Given the description of an element on the screen output the (x, y) to click on. 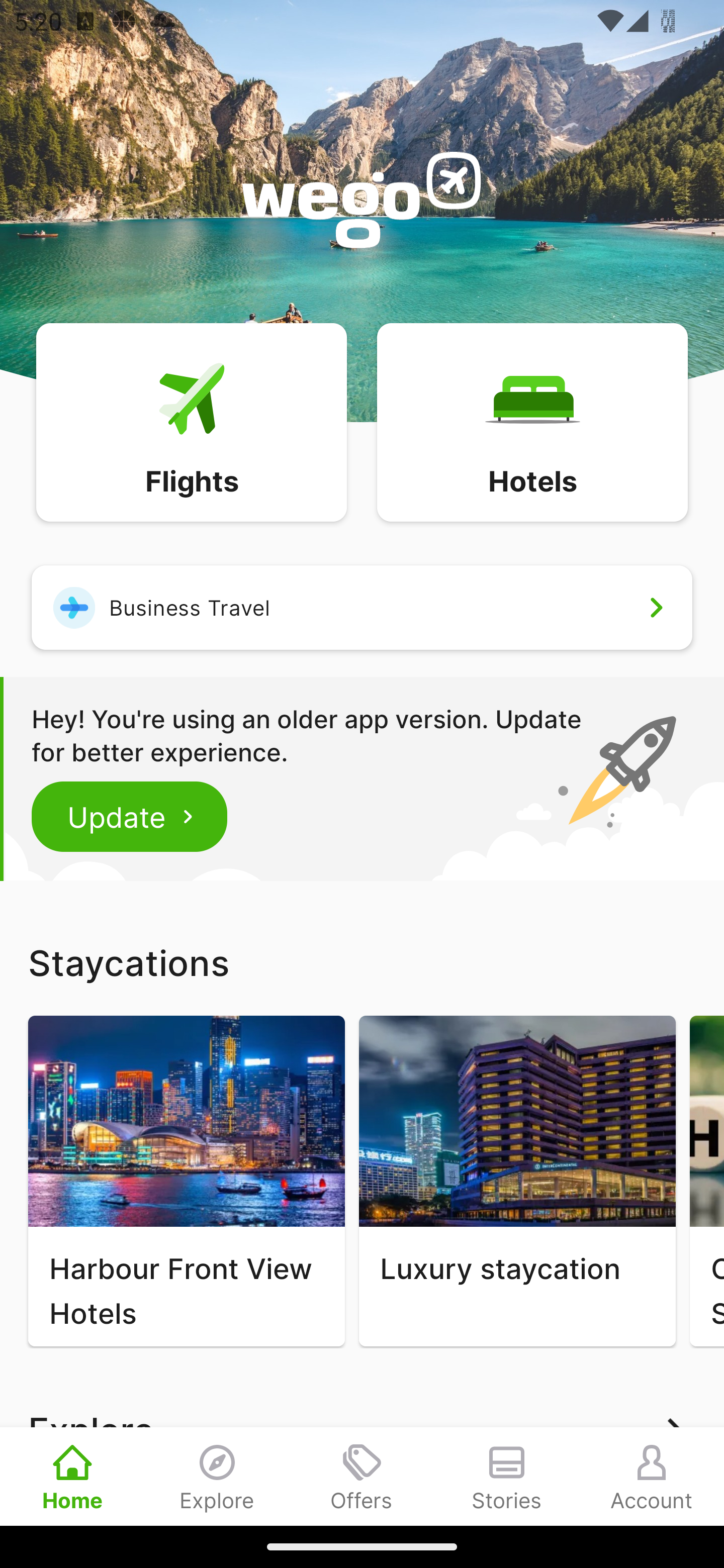
Flights (191, 420)
Hotels (532, 420)
Business Travel (361, 607)
Update (129, 815)
Staycations (362, 962)
Harbour Front View Hotels (186, 1181)
Luxury staycation (517, 1181)
Explore (216, 1475)
Offers (361, 1475)
Stories (506, 1475)
Account (651, 1475)
